Given the description of an element on the screen output the (x, y) to click on. 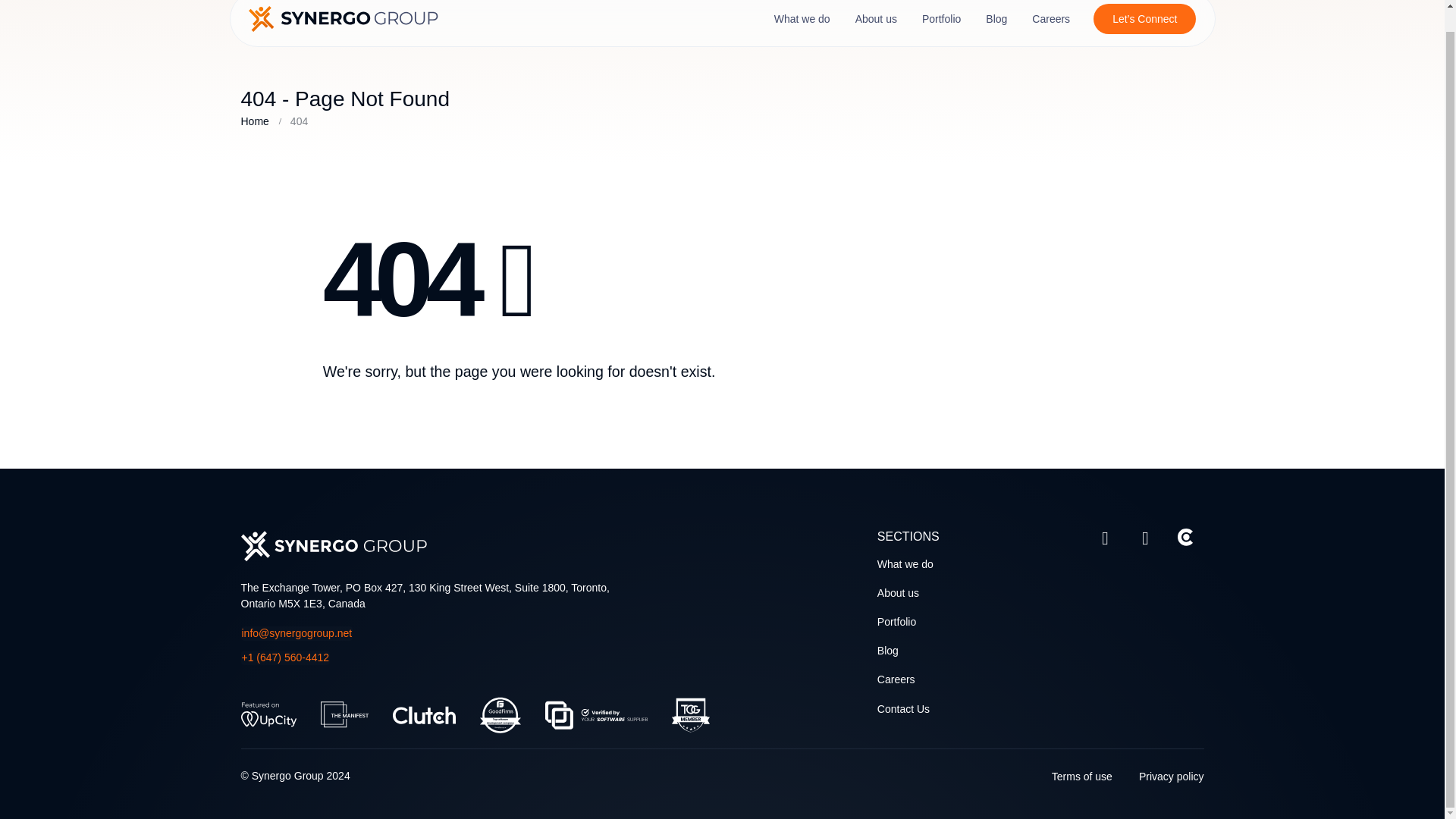
Go to Home Page (255, 121)
synergo-web-partners-footer-upcity (269, 714)
Synergo LinkedIn Social Account (1144, 538)
Terms of use (1081, 776)
synergo-web-partners-footer-the manifest (344, 714)
synergo-web-partners-footer-tog (690, 714)
Contact Us (903, 708)
synergo-web-partners-footer-clunch (424, 714)
Privacy policy (1171, 776)
What we do (905, 563)
Blog (887, 650)
synergo-web-partners-footer-good-firms (499, 714)
Careers (896, 679)
Synergo Twitter Social Account (1104, 538)
Portfolio (896, 621)
